Given the description of an element on the screen output the (x, y) to click on. 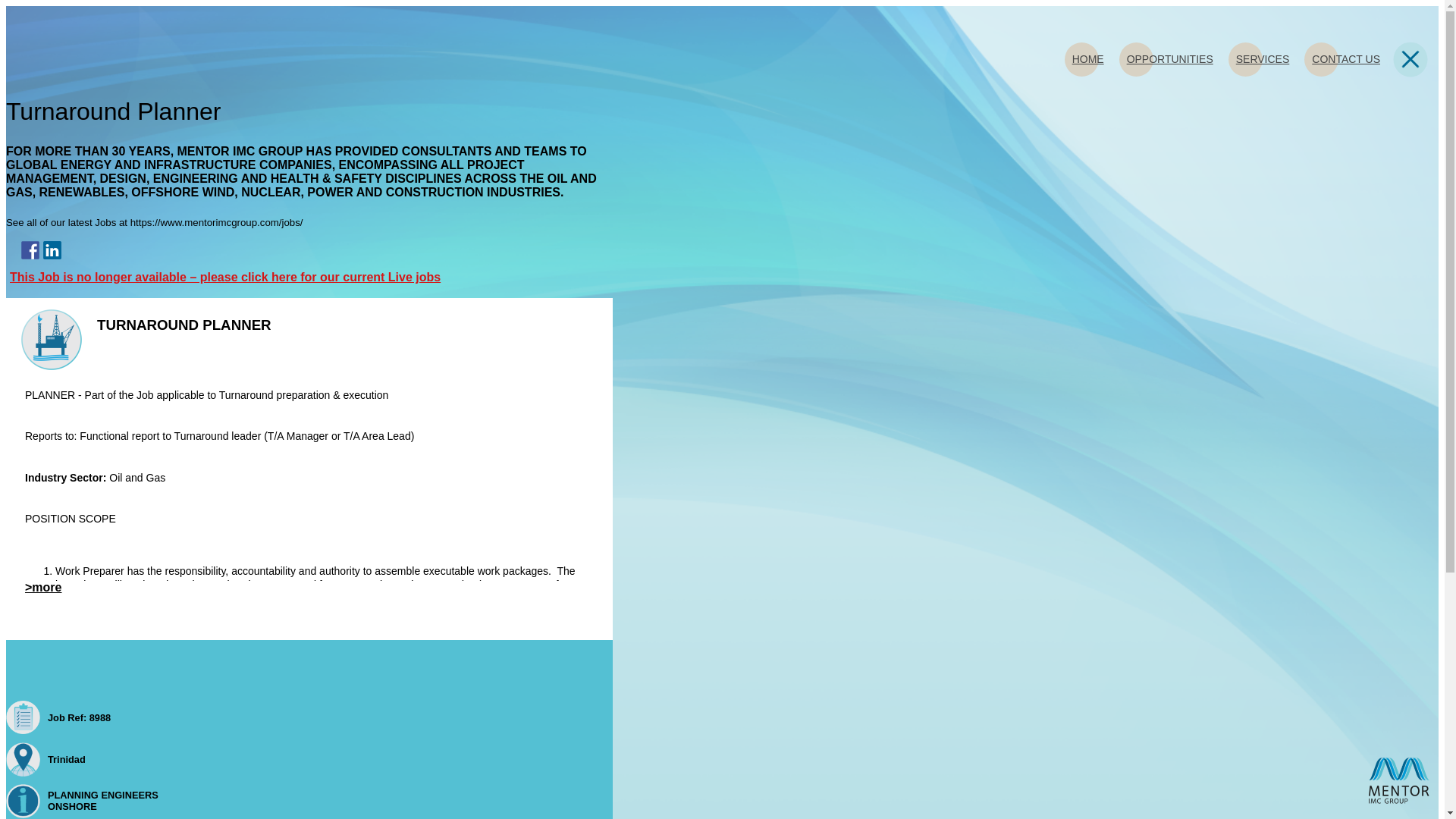
HOME (1091, 59)
OPPORTUNITIES (1173, 59)
CONTACT US (1349, 59)
Share on Linkedin (52, 253)
Share on Facebook (30, 253)
TURNAROUND PLANNER (145, 325)
Share on Linkedin (52, 249)
Share on Facebook (30, 249)
SERVICES (1266, 59)
